Given the description of an element on the screen output the (x, y) to click on. 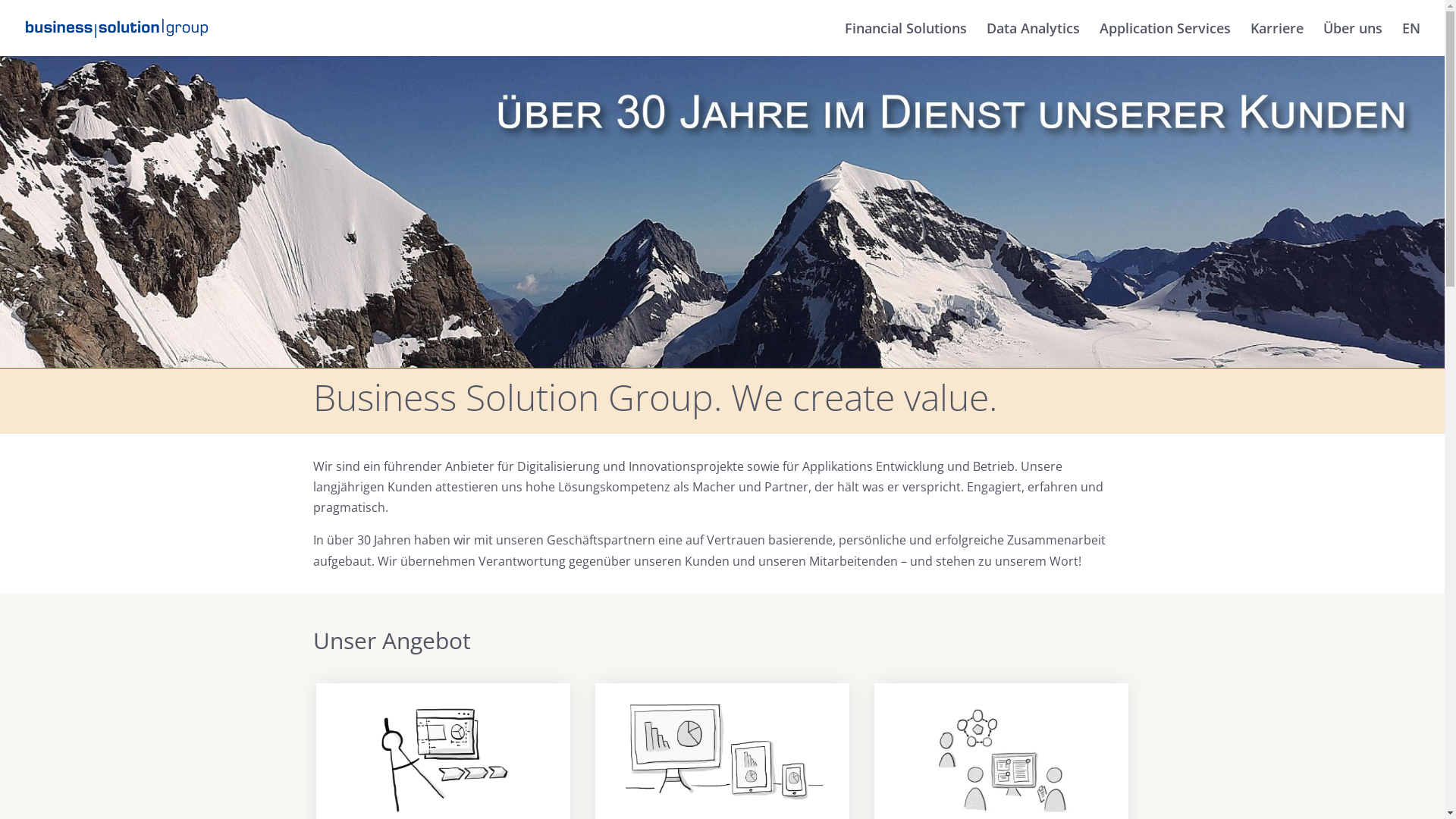
Karriere Element type: text (1276, 39)
Financial Solutions Element type: text (905, 39)
Data Analytics Element type: text (1032, 39)
Application Services Element type: text (1164, 39)
EN Element type: text (1411, 39)
